Given the description of an element on the screen output the (x, y) to click on. 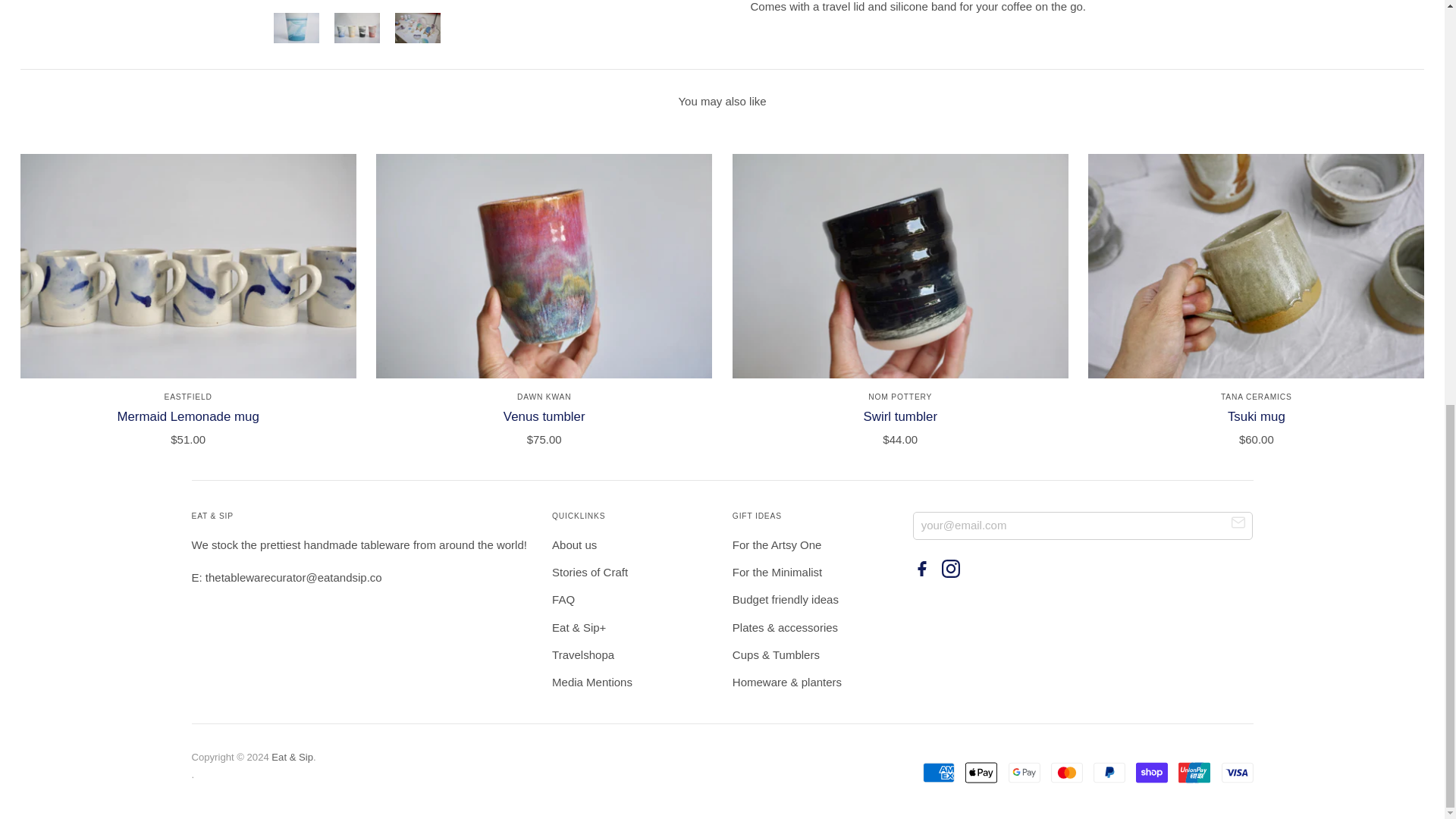
Tana Ceramics (1256, 397)
Apple Pay (981, 772)
Dawn Kwan (544, 397)
PayPal (1109, 772)
Google Pay (1025, 772)
Nom Pottery (899, 397)
Mastercard (1067, 772)
Union Pay (1193, 772)
EastField (188, 397)
American Express (939, 772)
Shop Pay (1151, 772)
Visa (1236, 772)
